Given the description of an element on the screen output the (x, y) to click on. 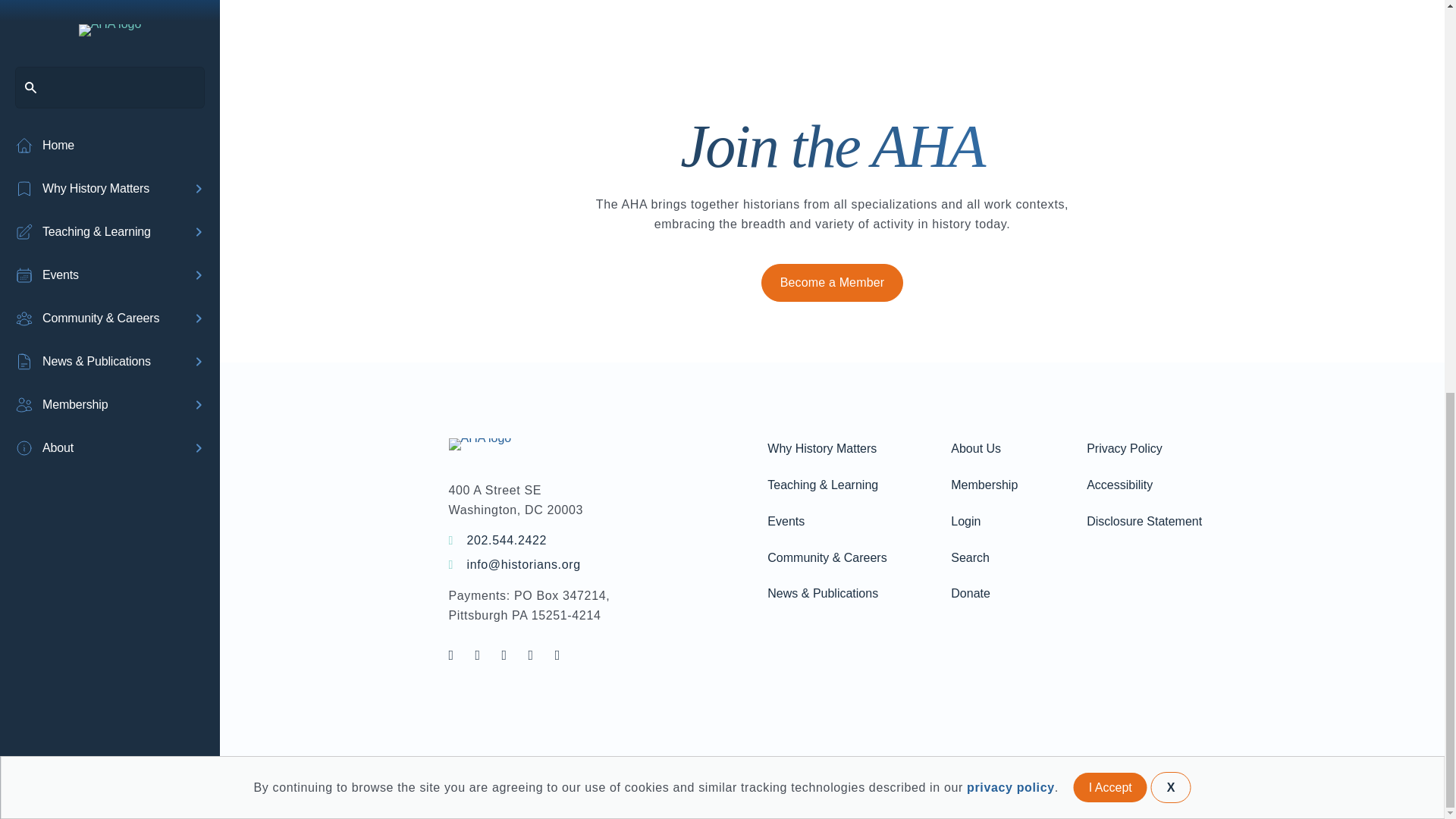
privacy policy (1010, 32)
X (1171, 32)
AHA-logo-blue (480, 444)
I Accept (1110, 32)
